Given the description of an element on the screen output the (x, y) to click on. 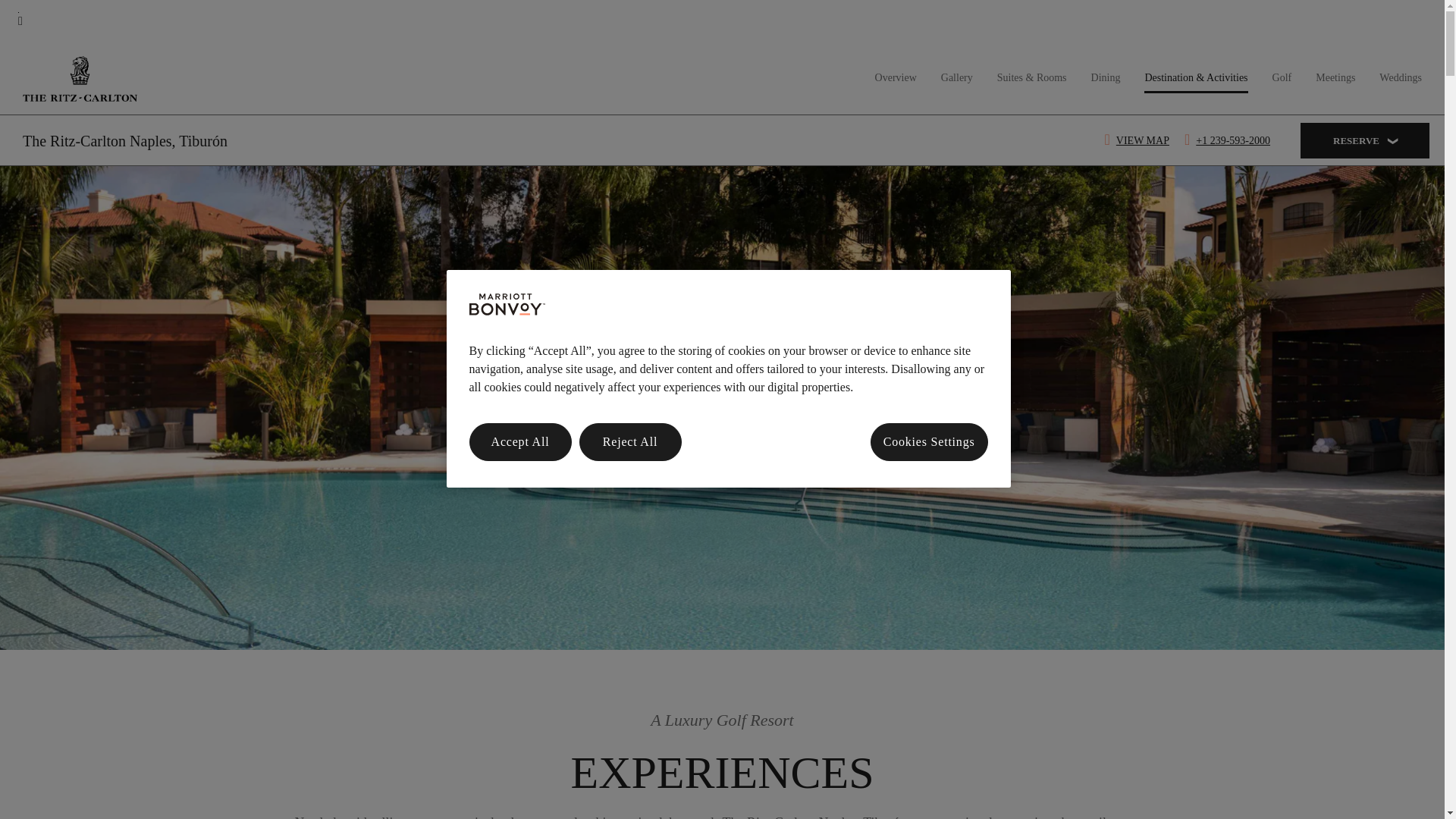
VIEW MAP (1139, 140)
RESERVE (1364, 140)
Weddings (1400, 77)
Dining (1105, 77)
Gallery (956, 77)
Golf (1282, 77)
Meetings (1335, 77)
Overview (896, 77)
